Given the description of an element on the screen output the (x, y) to click on. 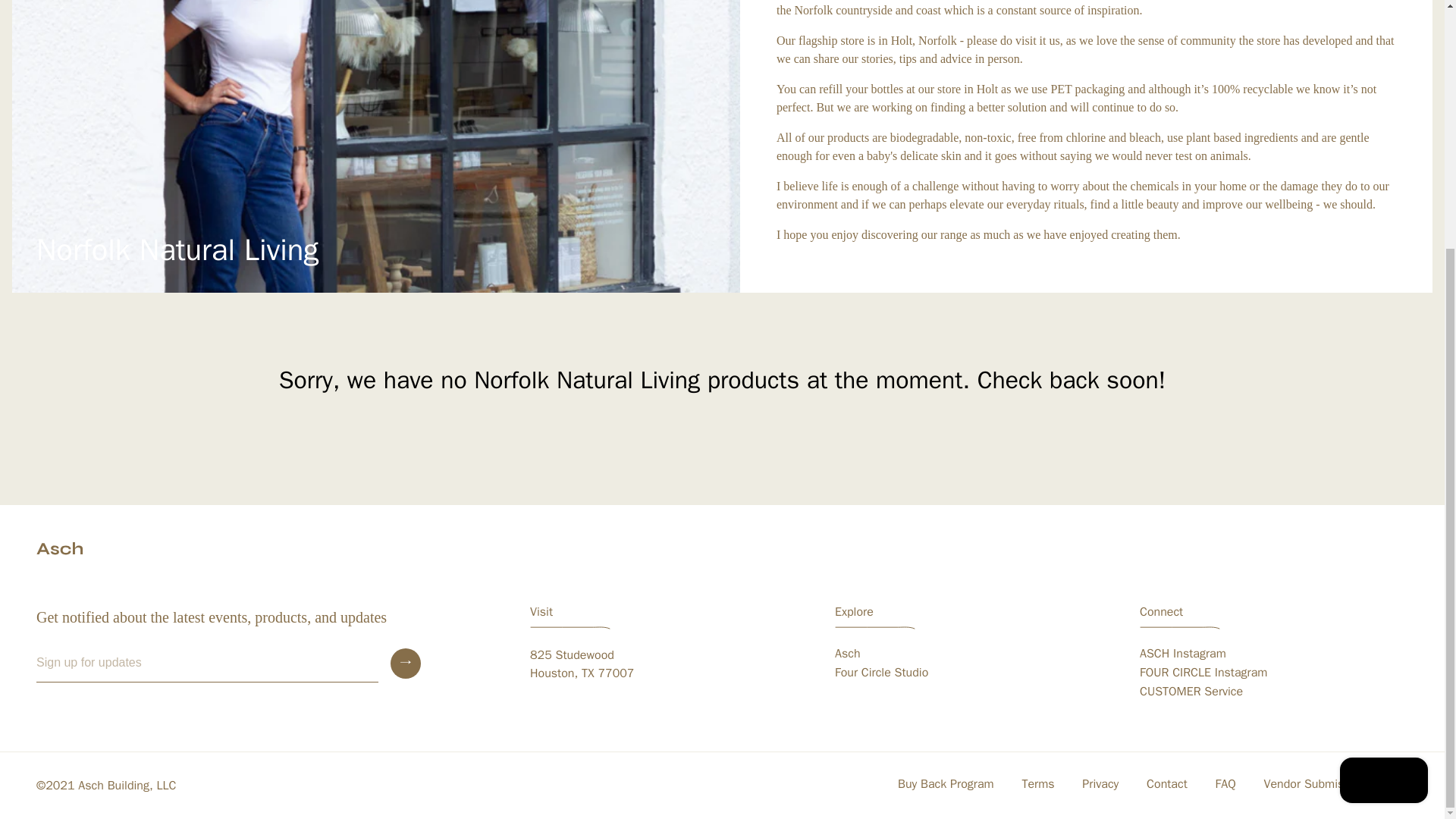
Privacy (1100, 784)
CUSTOMER Service (1191, 691)
Contact (1166, 784)
Terms (1037, 784)
ASCH Instagram (1182, 653)
Four Circle Studio (881, 672)
Vendor Submission Form (1329, 784)
FOUR CIRCLE Instagram (581, 664)
Shopify online store chat (1203, 672)
